Given the description of an element on the screen output the (x, y) to click on. 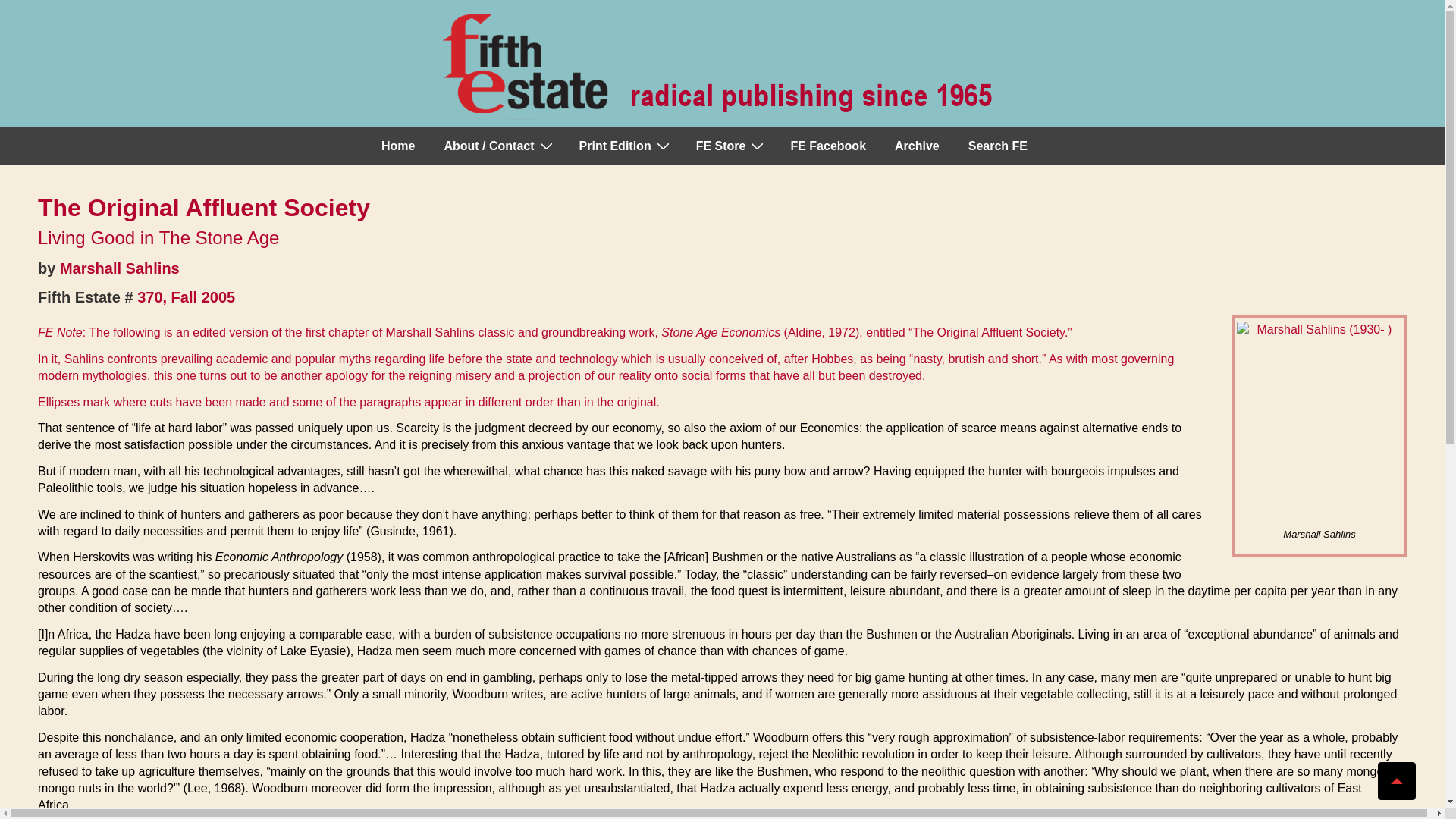
Home (398, 145)
Scroll to Top (1396, 781)
Print Edition (623, 145)
Archive (916, 145)
Top (1396, 781)
FE Store (729, 145)
Recordings (729, 145)
Search FE (998, 145)
FE Facebook (827, 145)
370, Fall 2005 (185, 297)
